Given the description of an element on the screen output the (x, y) to click on. 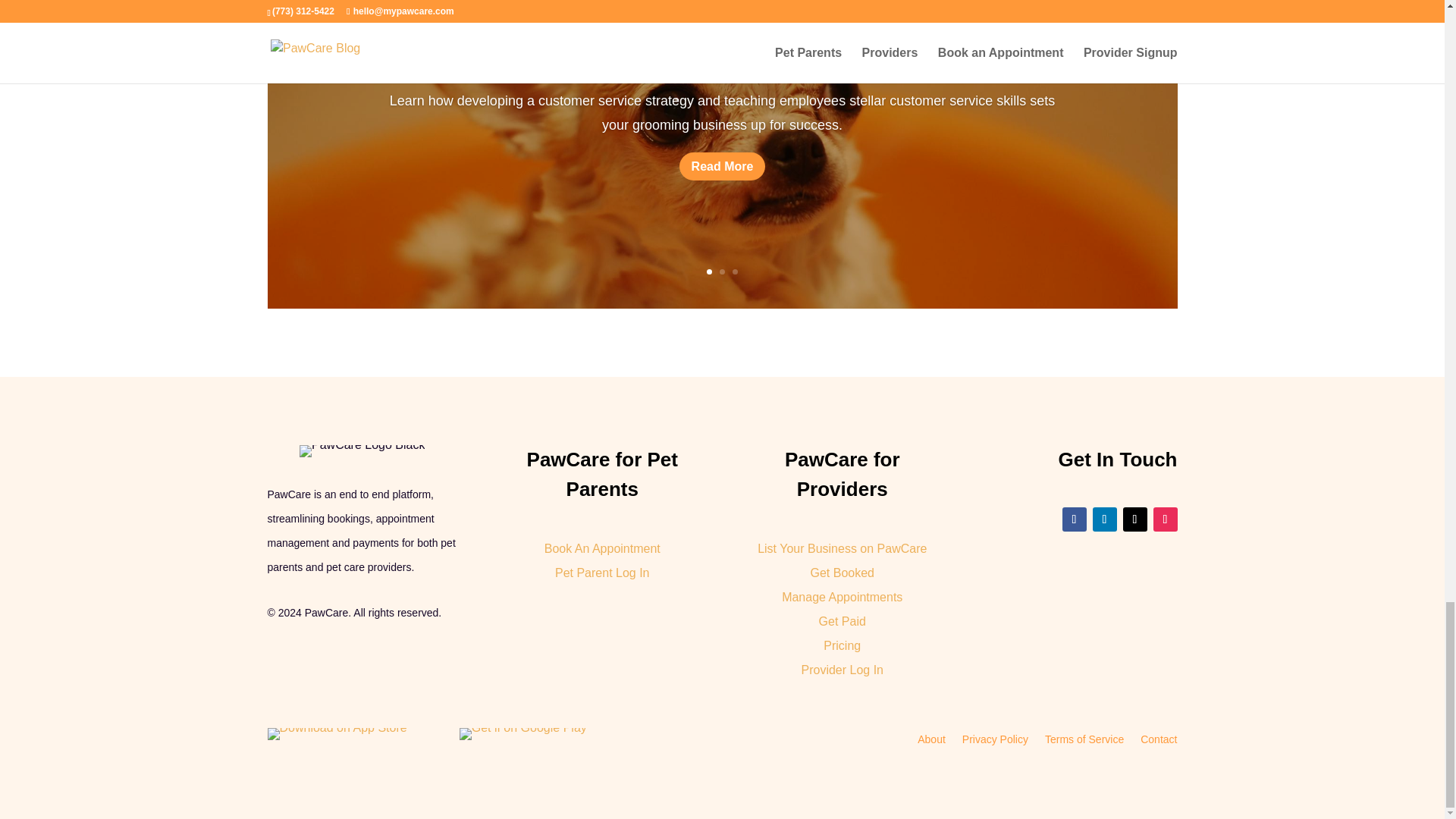
Book An Appointment (602, 548)
List Your Business on PawCare (841, 548)
Get if on Google Play (523, 734)
Follow on LinkedIn (1104, 518)
Manage Appointments (841, 596)
Team PawCare (635, 116)
Follow on X (1134, 518)
Follow on Instagram (1164, 518)
Pet Parent Log In (601, 572)
